Given the description of an element on the screen output the (x, y) to click on. 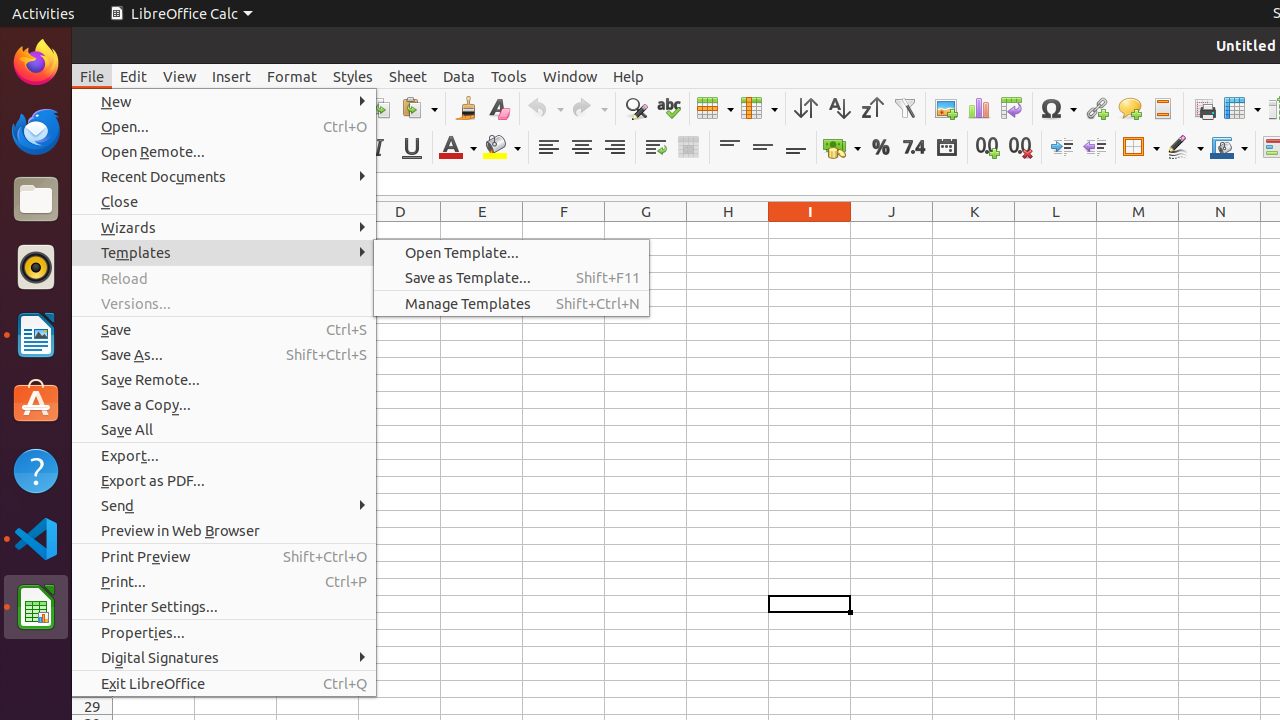
Preview in Web Browser Element type: menu-item (224, 530)
M1 Element type: table-cell (1138, 230)
Date Element type: push-button (946, 147)
Data Element type: menu (459, 76)
Redo Element type: push-button (589, 108)
